Given the description of an element on the screen output the (x, y) to click on. 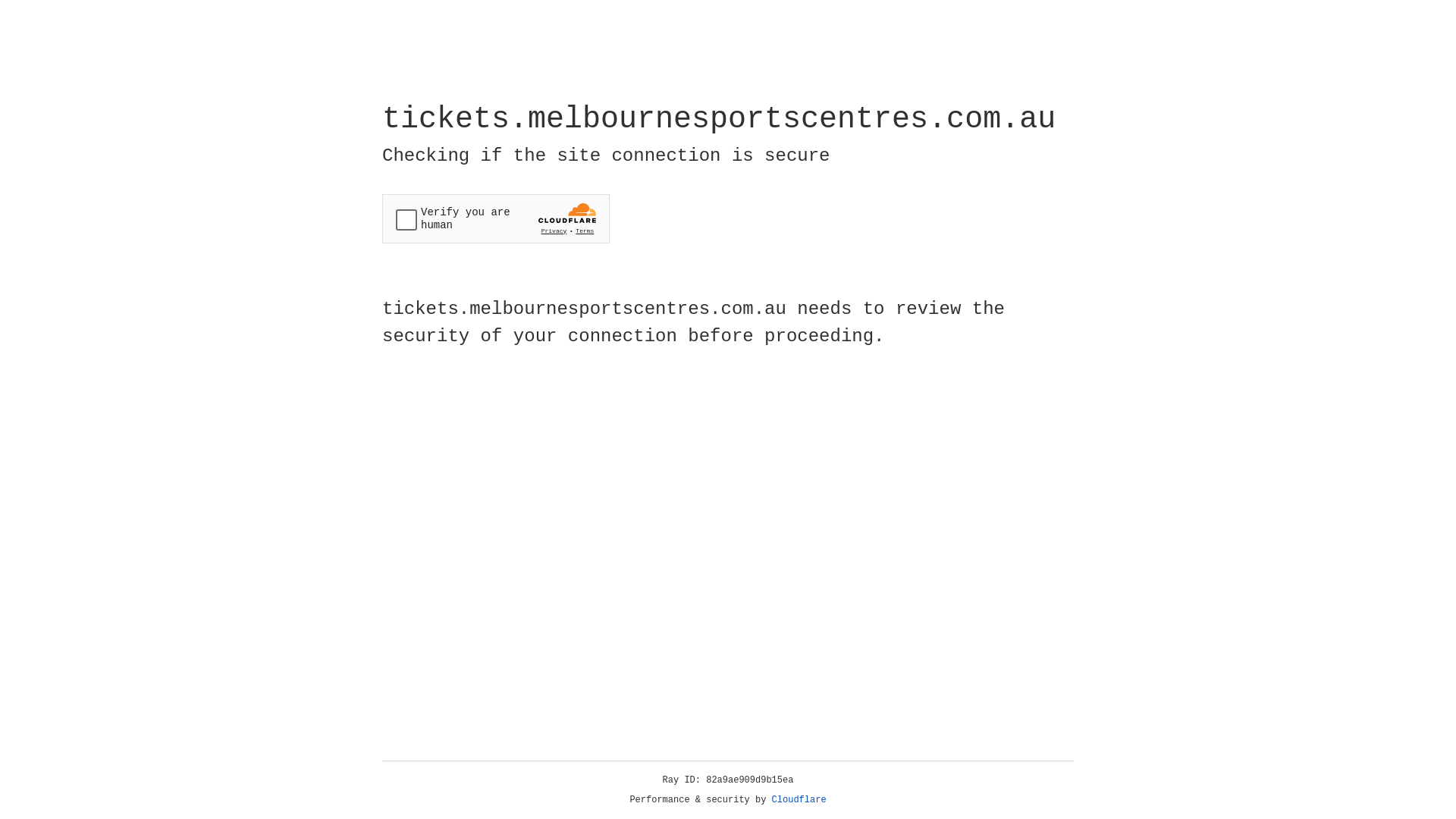
Widget containing a Cloudflare security challenge Element type: hover (495, 218)
Cloudflare Element type: text (798, 799)
